Given the description of an element on the screen output the (x, y) to click on. 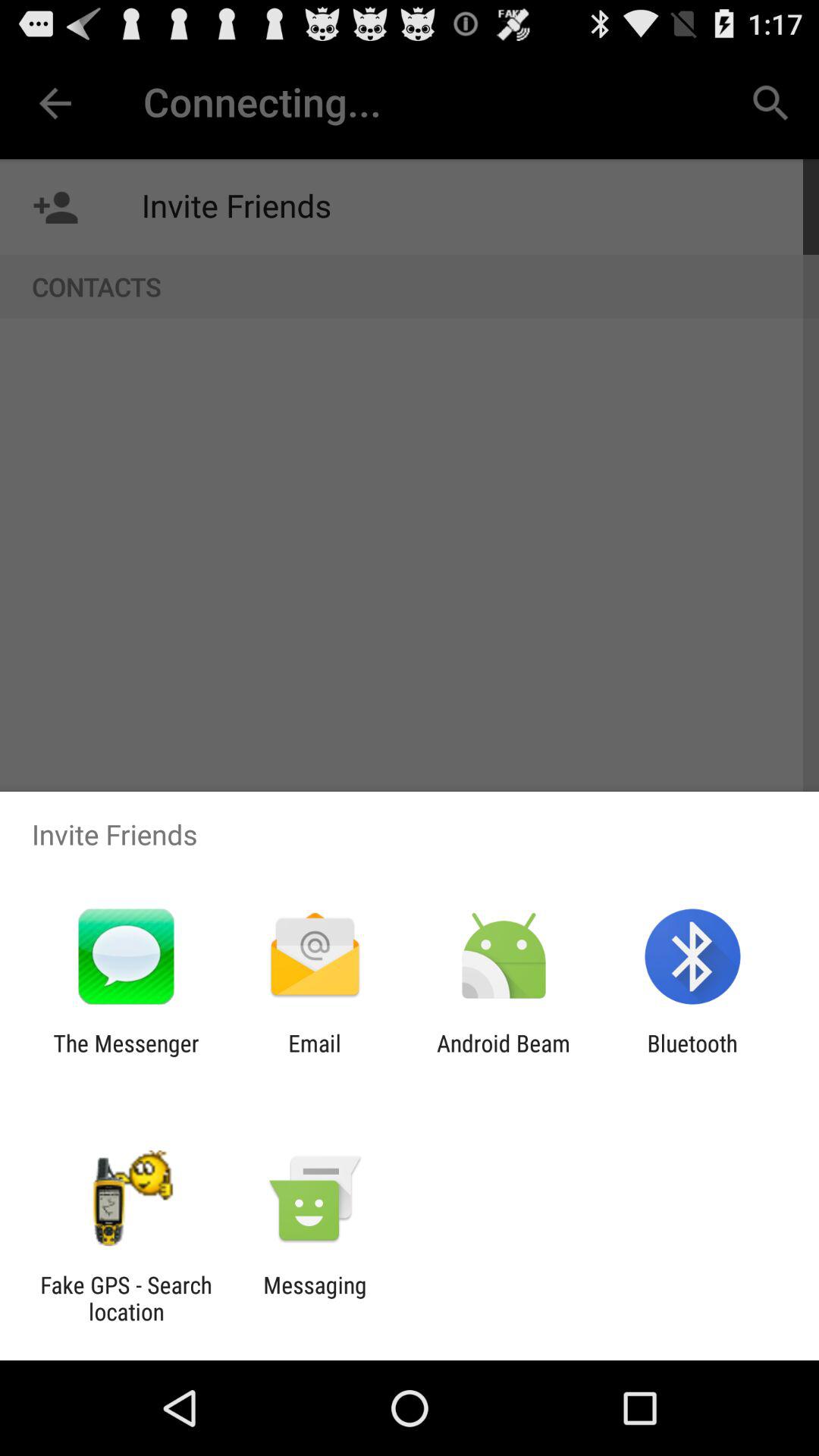
launch the item to the right of android beam item (692, 1056)
